Given the description of an element on the screen output the (x, y) to click on. 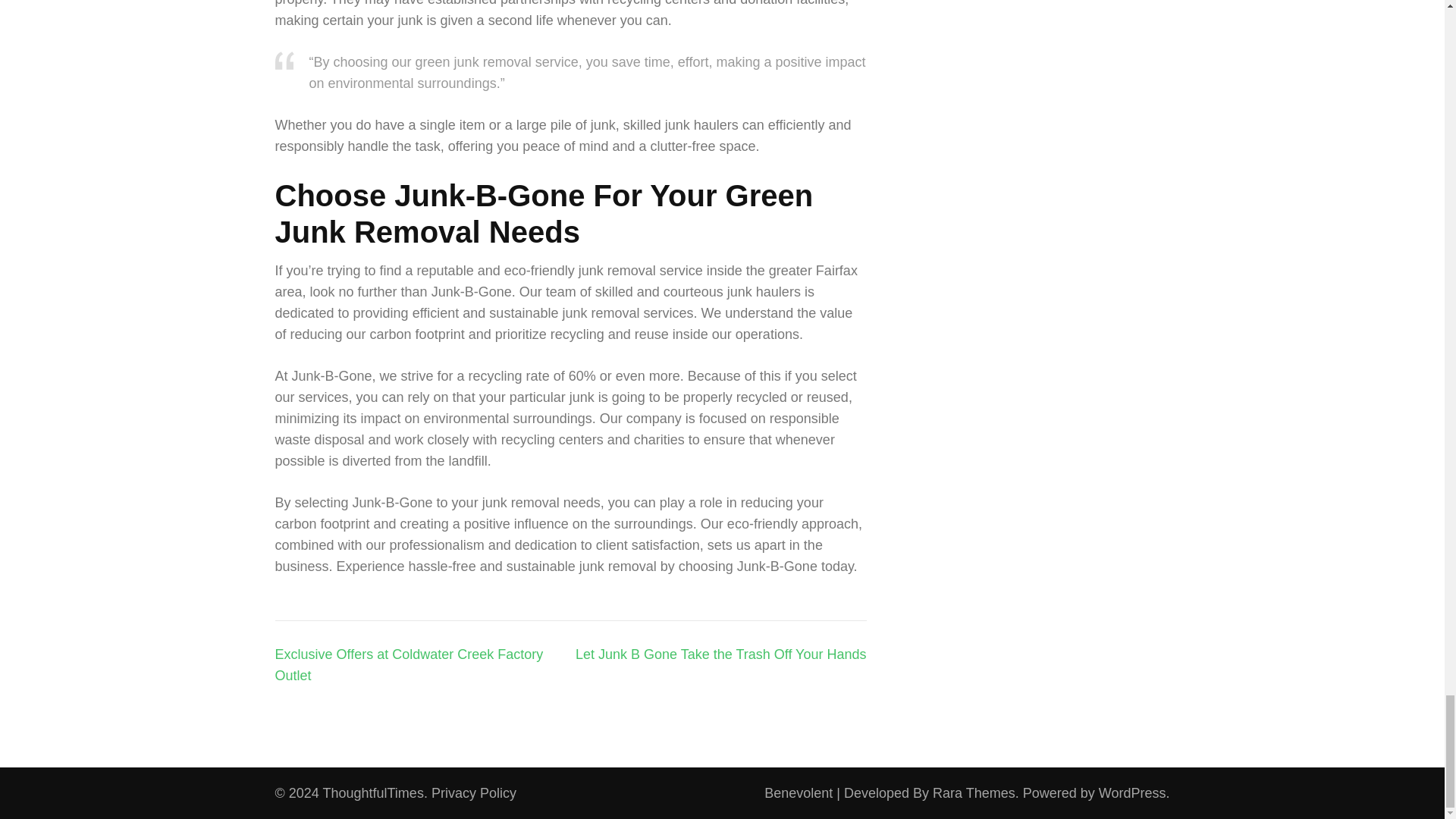
Let Junk B Gone Take the Trash Off Your Hands (720, 654)
Exclusive Offers at Coldwater Creek Factory Outlet (409, 665)
